Given the description of an element on the screen output the (x, y) to click on. 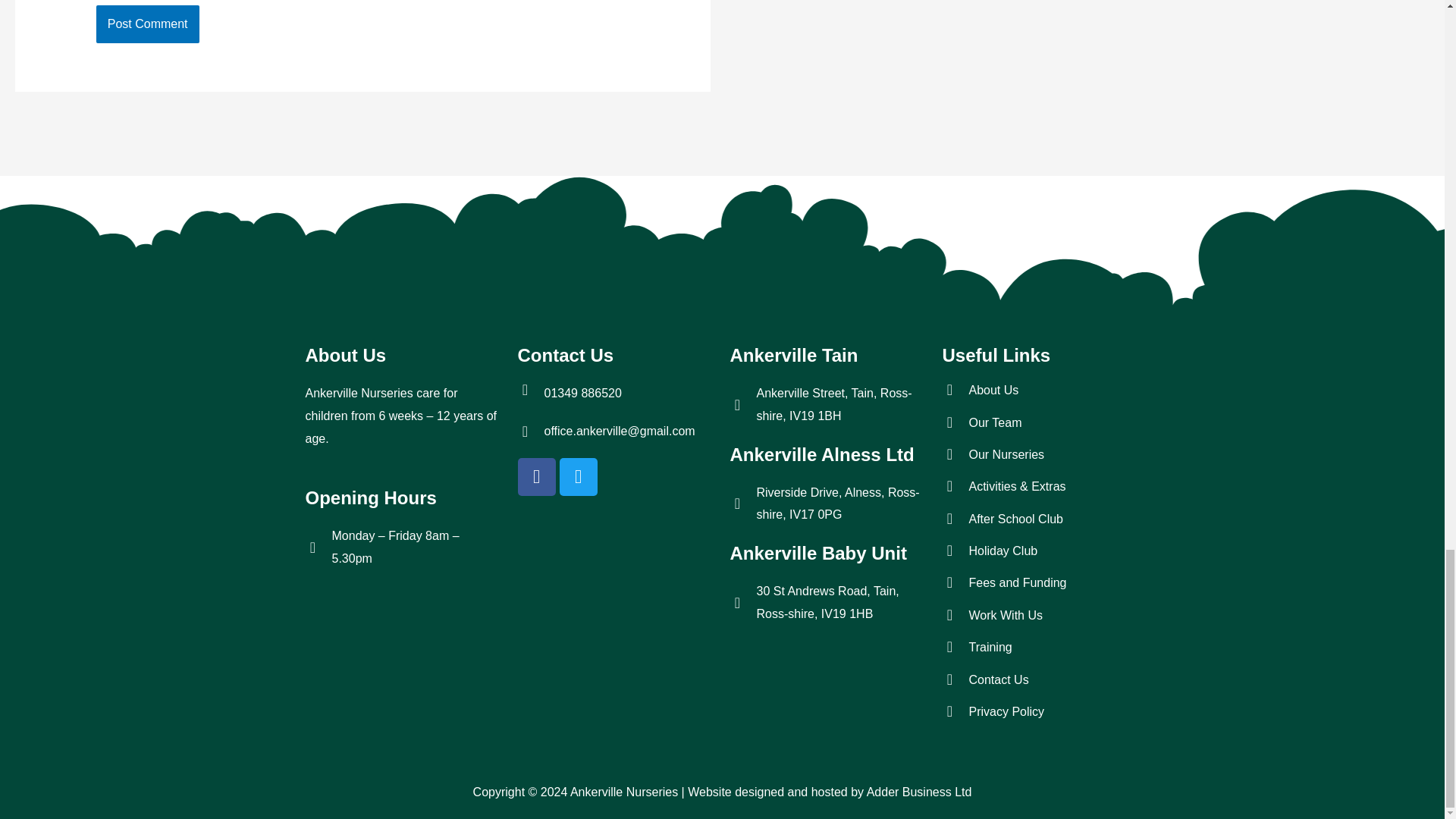
Post Comment (147, 23)
